Given the description of an element on the screen output the (x, y) to click on. 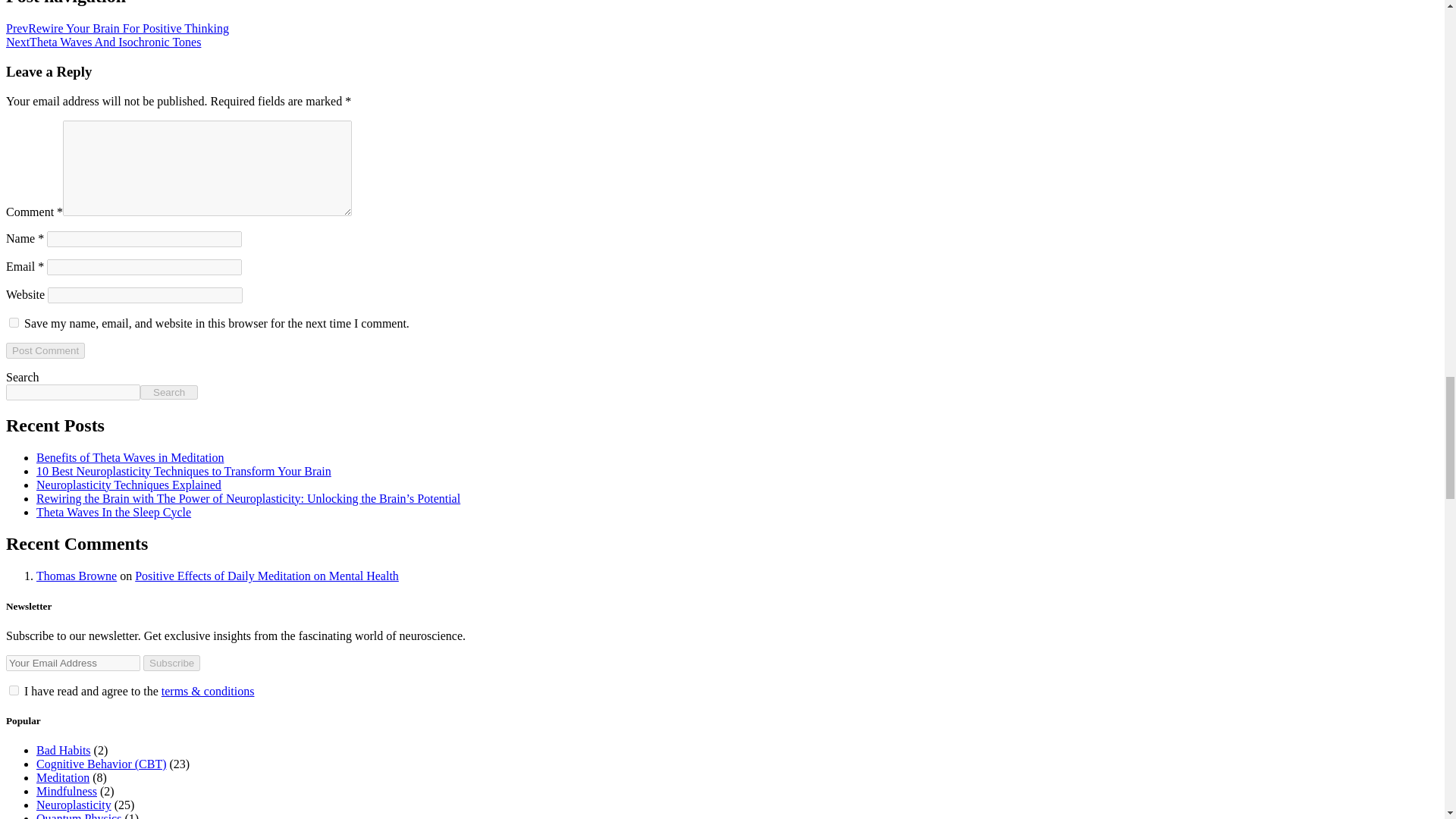
Subscribe (171, 662)
1 (13, 690)
Post Comment (44, 350)
yes (13, 322)
